Given the description of an element on the screen output the (x, y) to click on. 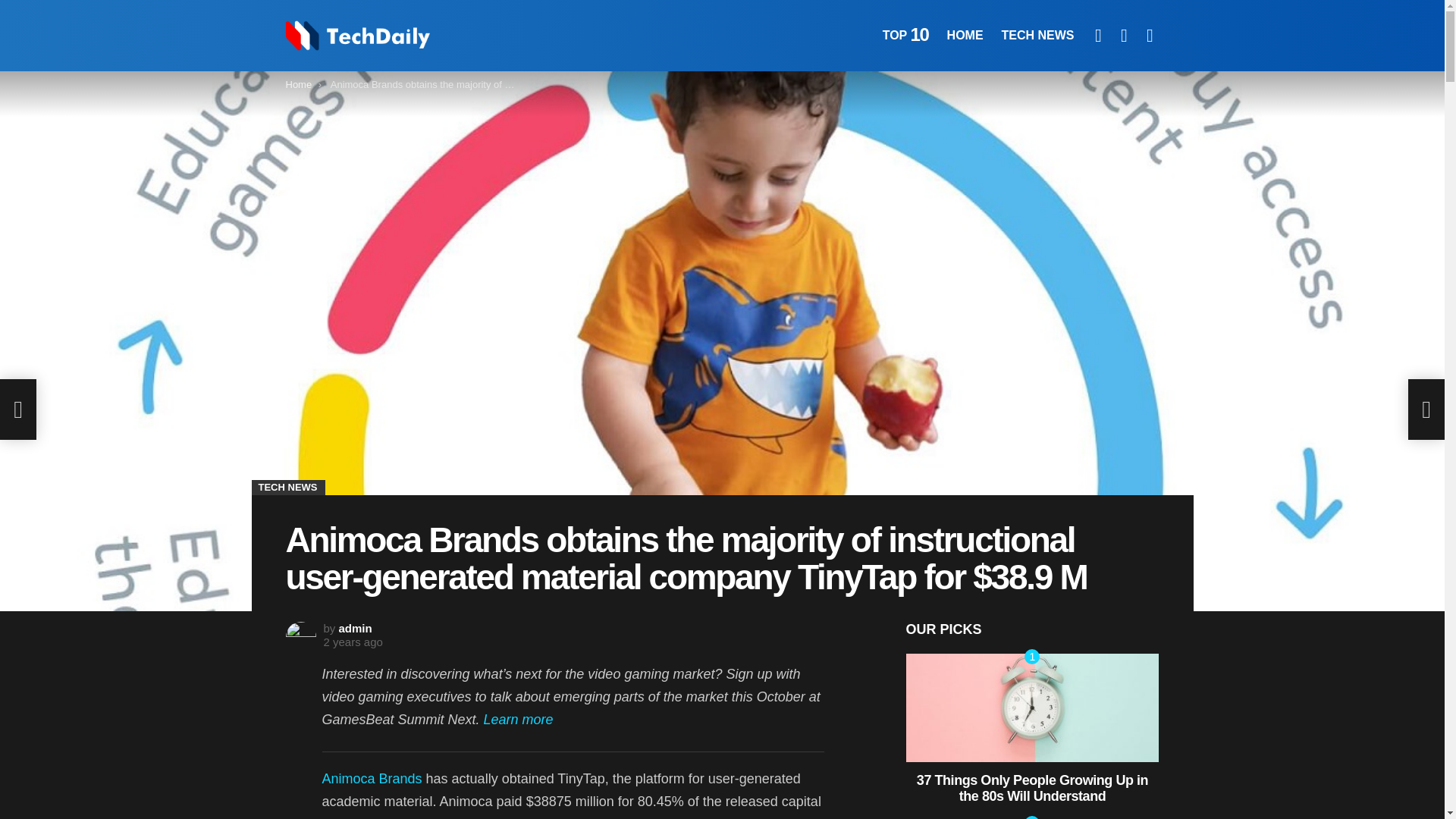
HOME (965, 35)
TECH NEWS (287, 487)
admin (355, 627)
Home (298, 84)
June 16, 2022, 12:55 pm (352, 642)
TECH NEWS (1036, 35)
Posts by admin (355, 627)
Animoca Brands (371, 778)
TOP 10 (905, 35)
Learn more (518, 719)
